Given the description of an element on the screen output the (x, y) to click on. 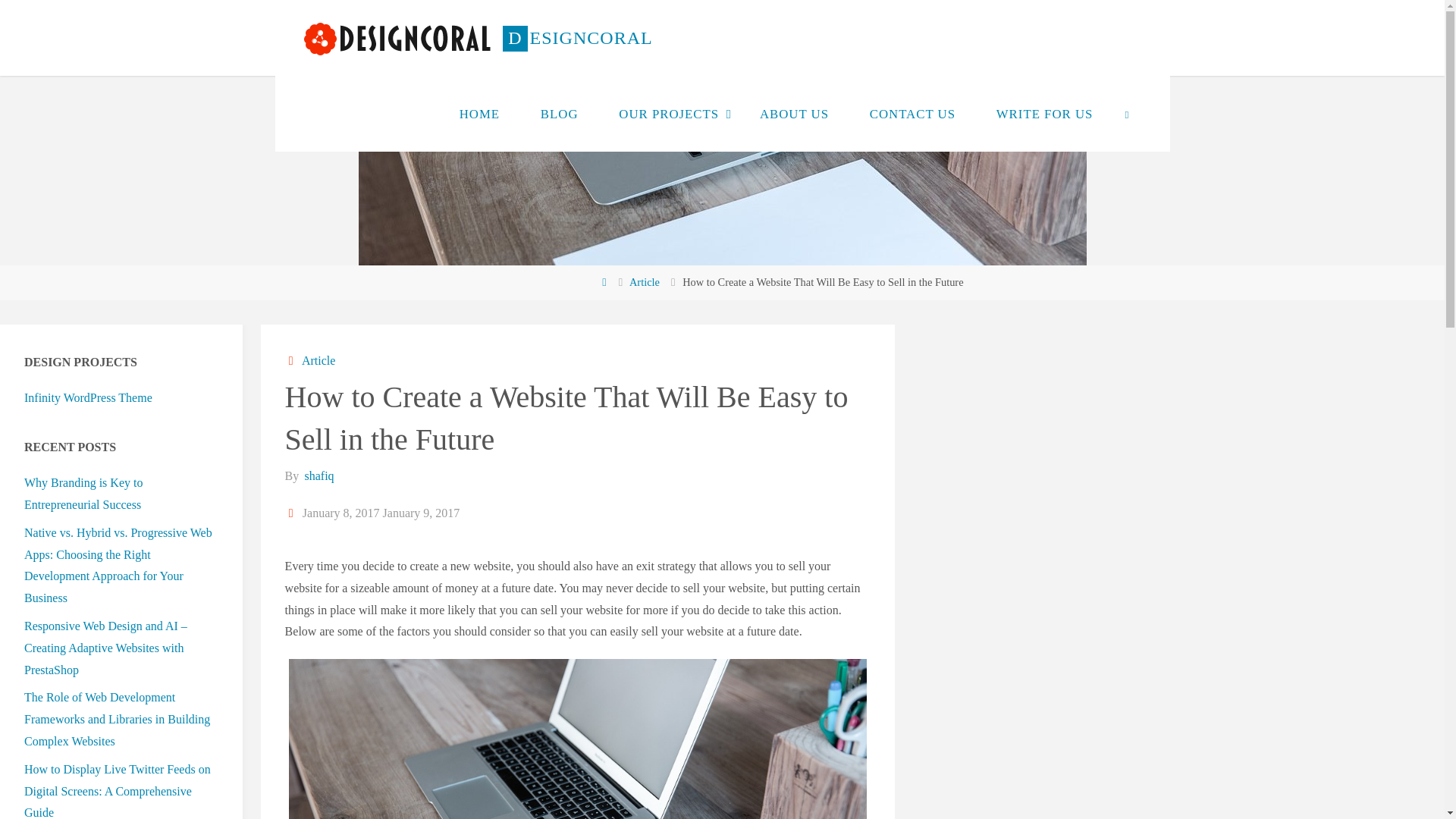
ABOUT US (793, 113)
BLOG (558, 113)
WRITE FOR US (1044, 113)
Article (317, 359)
shafiq (317, 475)
Design Ideas and Inspiration (577, 37)
View all posts by shafiq (317, 475)
Categories (292, 359)
Date (292, 512)
DesignCoral (397, 37)
Infinity WordPress Theme (88, 397)
HOME (479, 113)
Article (643, 282)
DESIGNCORAL (577, 37)
